Given the description of an element on the screen output the (x, y) to click on. 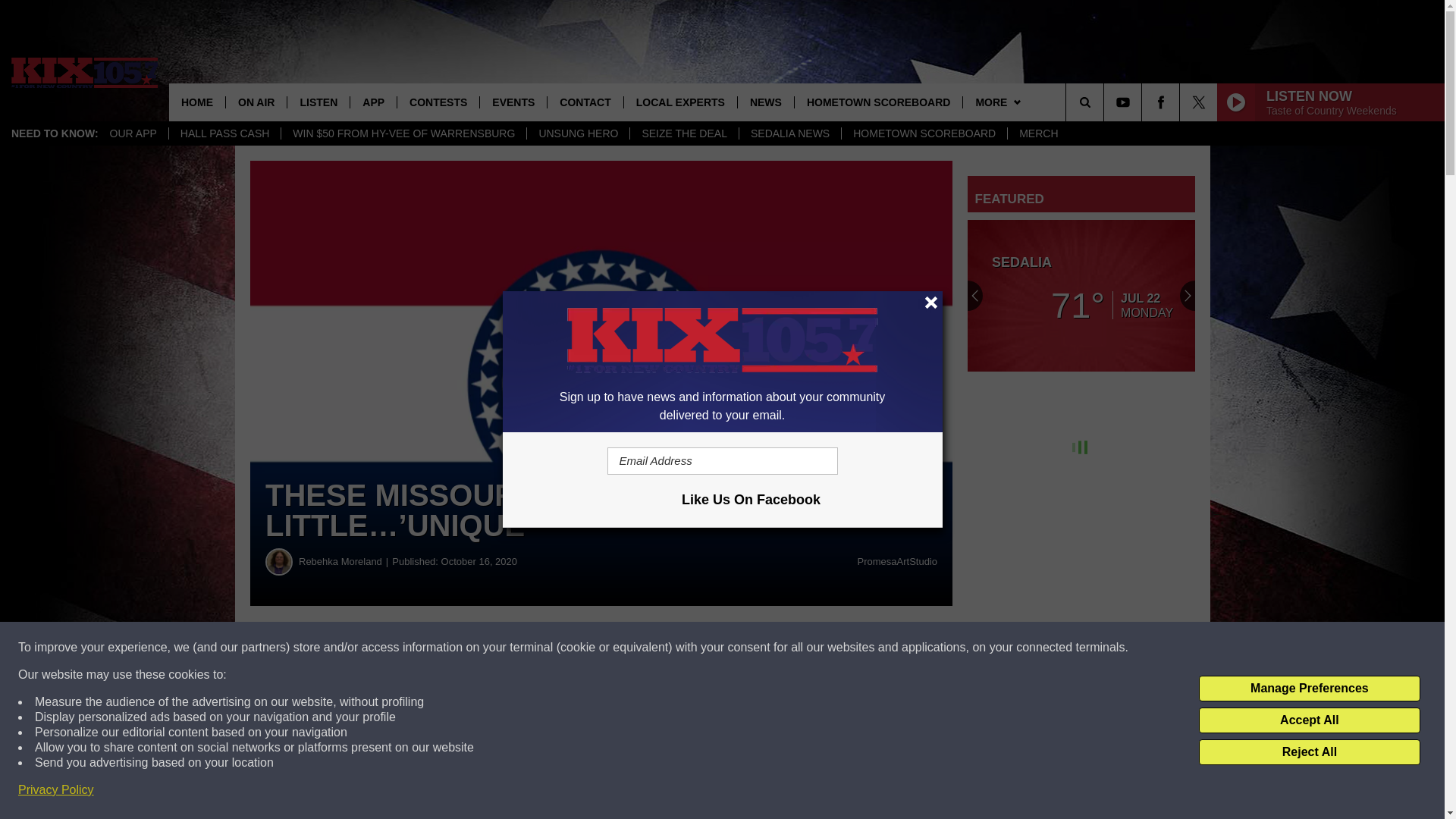
Reject All (1309, 751)
OUR APP (133, 133)
ON AIR (255, 102)
HOMETOWN SCOREBOARD (924, 133)
Sedalia Weather (1081, 295)
Privacy Policy (55, 789)
Share on Twitter (741, 647)
SEIZE THE DEAL (683, 133)
Accept All (1309, 720)
UNSUNG HERO (576, 133)
MERCH (1037, 133)
HOME (196, 102)
Email Address (722, 461)
LISTEN (317, 102)
CONTESTS (437, 102)
